Given the description of an element on the screen output the (x, y) to click on. 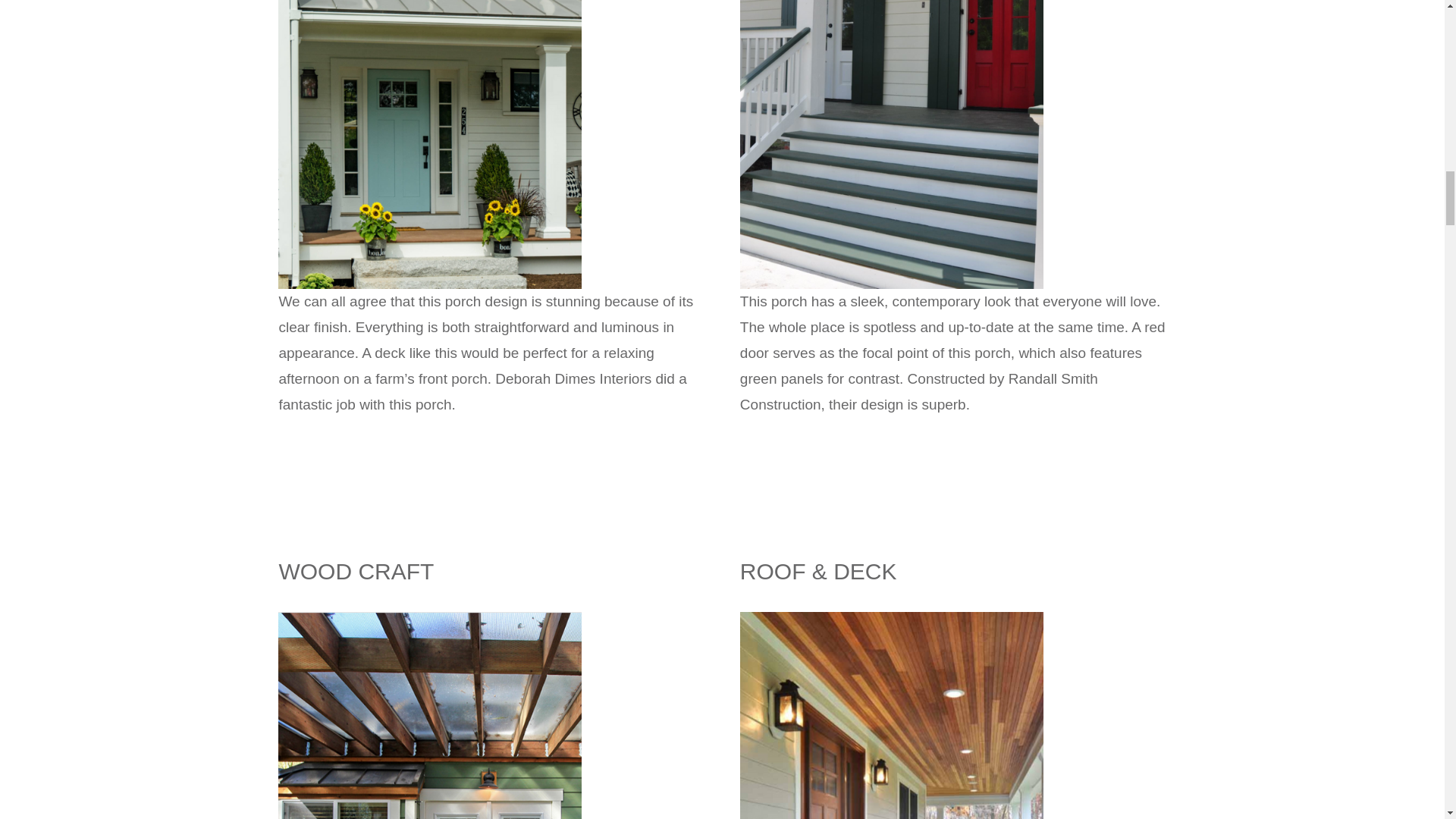
front-back-porch-ideas-sebring-design-build-8 (891, 618)
front-back-porch-ideas-sebring-design-build-7 (429, 618)
